Given the description of an element on the screen output the (x, y) to click on. 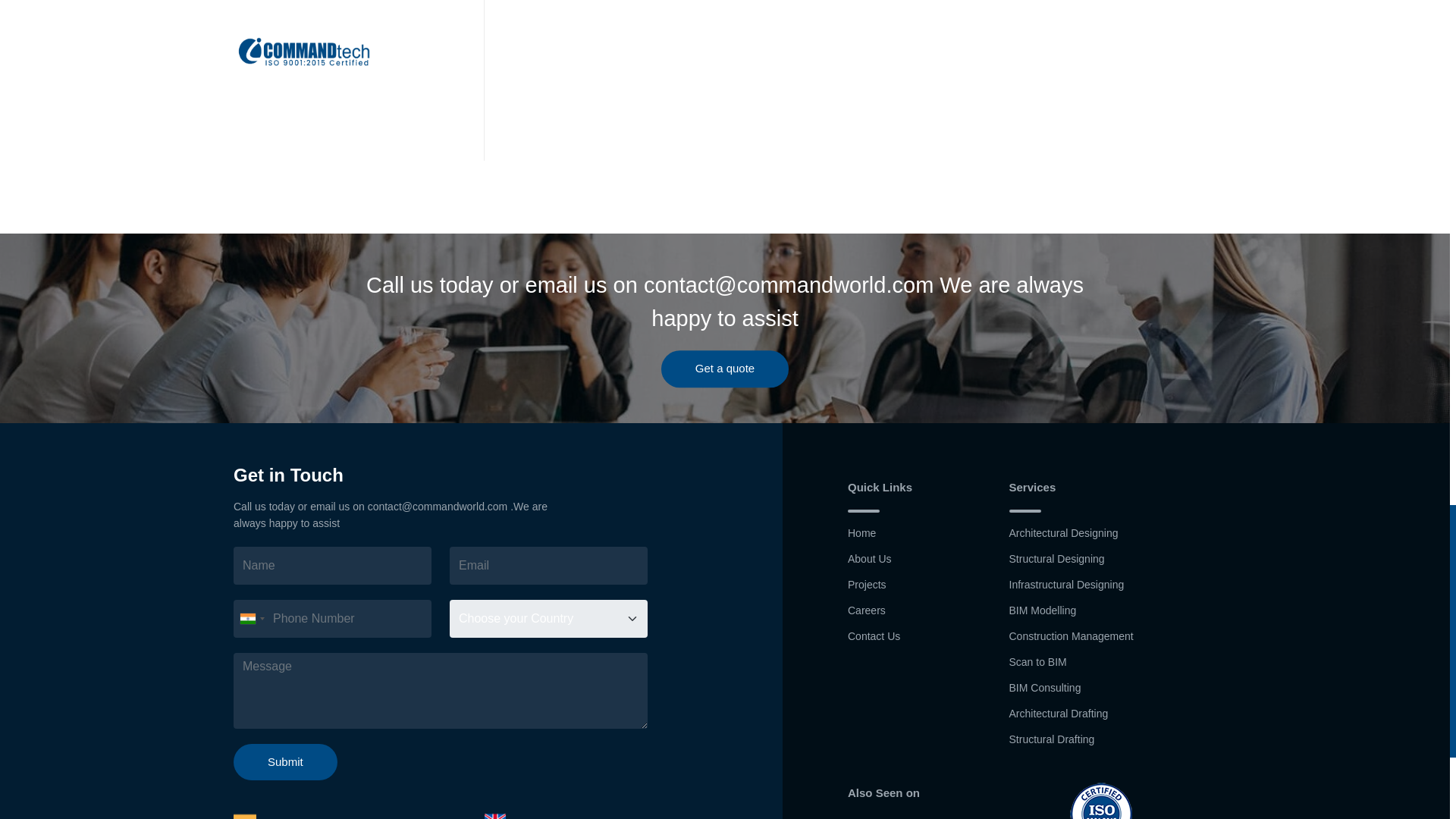
Submit (284, 762)
